Given the description of an element on the screen output the (x, y) to click on. 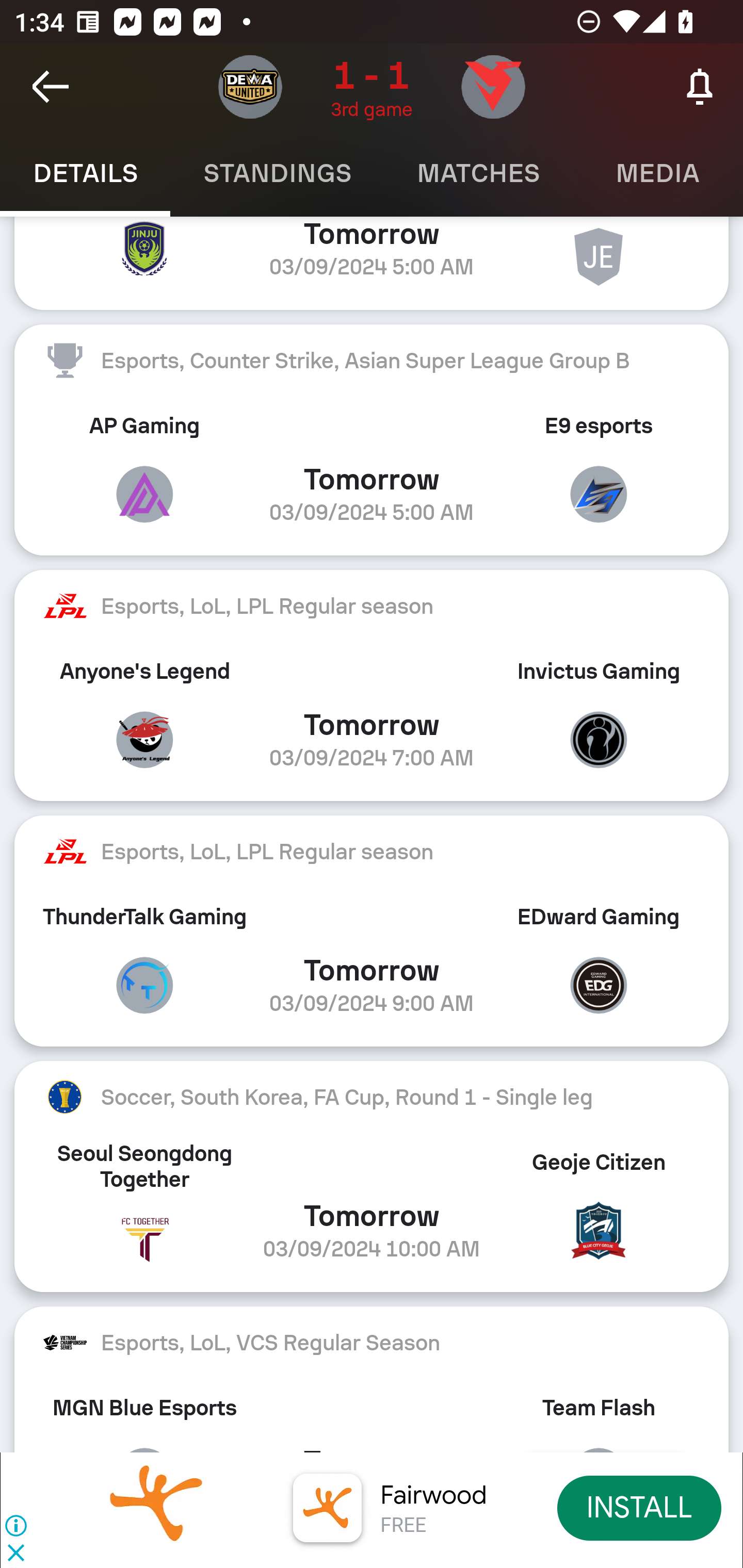
Navigate up (50, 86)
Standings STANDINGS (277, 173)
Matches MATCHES (478, 173)
Media MEDIA (657, 173)
Tomorrow 03/09/2024 5:00 AM (371, 263)
Esports, LoL, LPL Regular season (371, 605)
Esports, LoL, LPL Regular season (371, 851)
Soccer, South Korea, FA Cup, Round 1 - Single leg (371, 1097)
Esports, LoL, VCS Regular Season (371, 1342)
INSTALL (639, 1507)
Fairwood (433, 1494)
FREE (403, 1525)
